Given the description of an element on the screen output the (x, y) to click on. 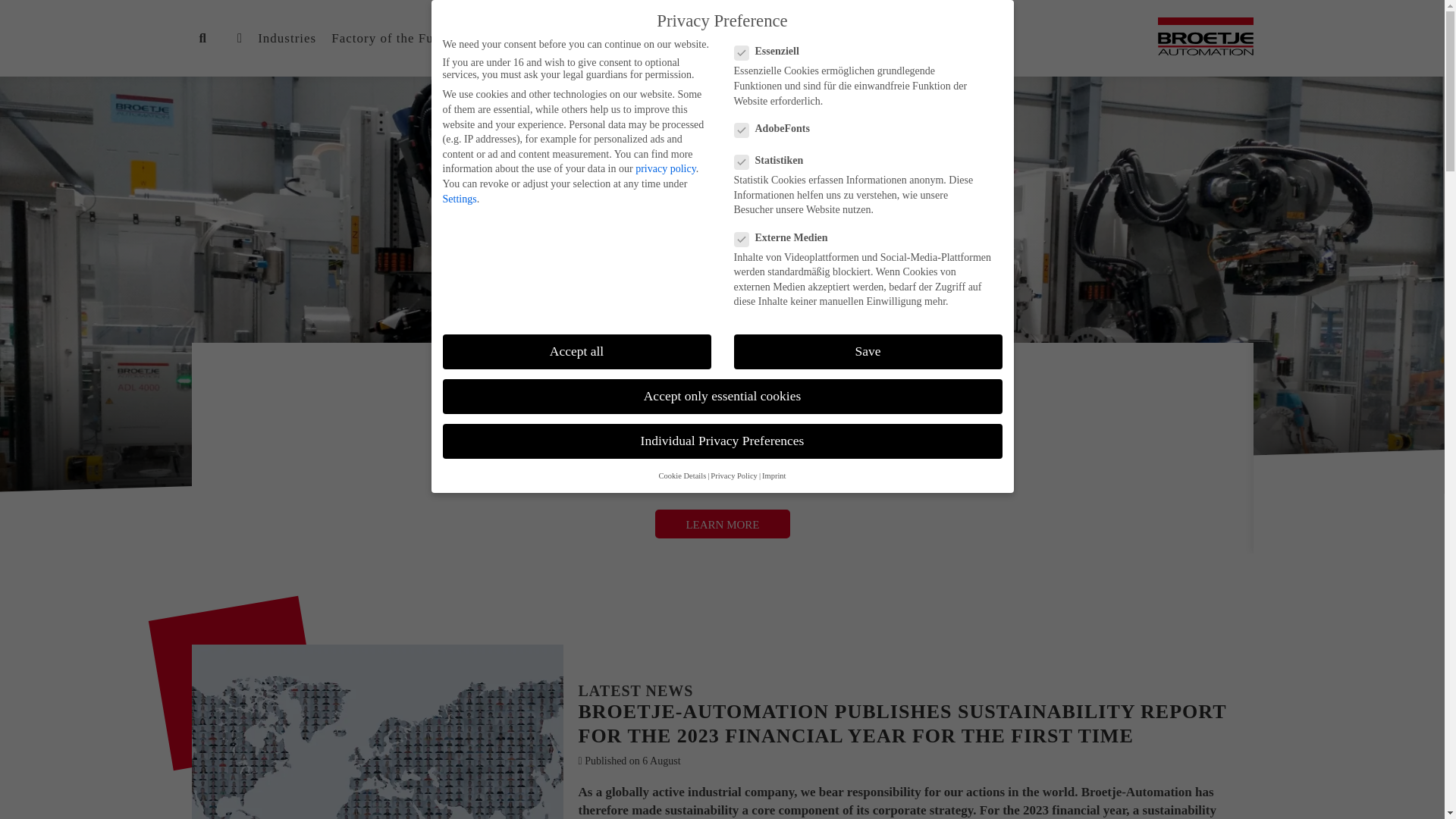
Factory of the Future (393, 37)
Industries (287, 37)
Products (497, 37)
